Given the description of an element on the screen output the (x, y) to click on. 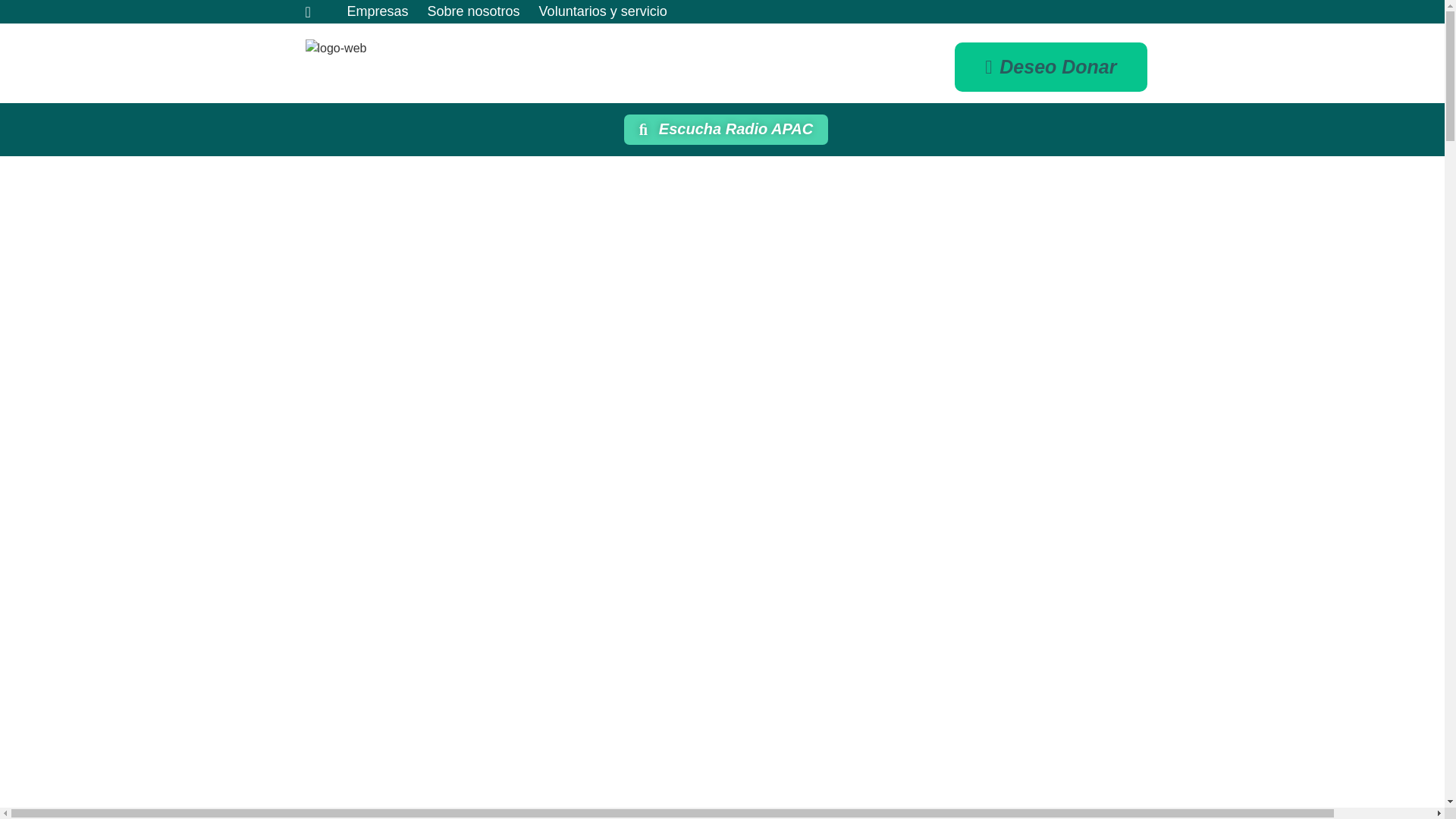
Sobre nosotros (473, 11)
logo-web (335, 48)
Voluntarios y servicio (602, 11)
Empresas (378, 11)
Deseo Donar (1051, 66)
Escucha Radio APAC (726, 129)
